Given the description of an element on the screen output the (x, y) to click on. 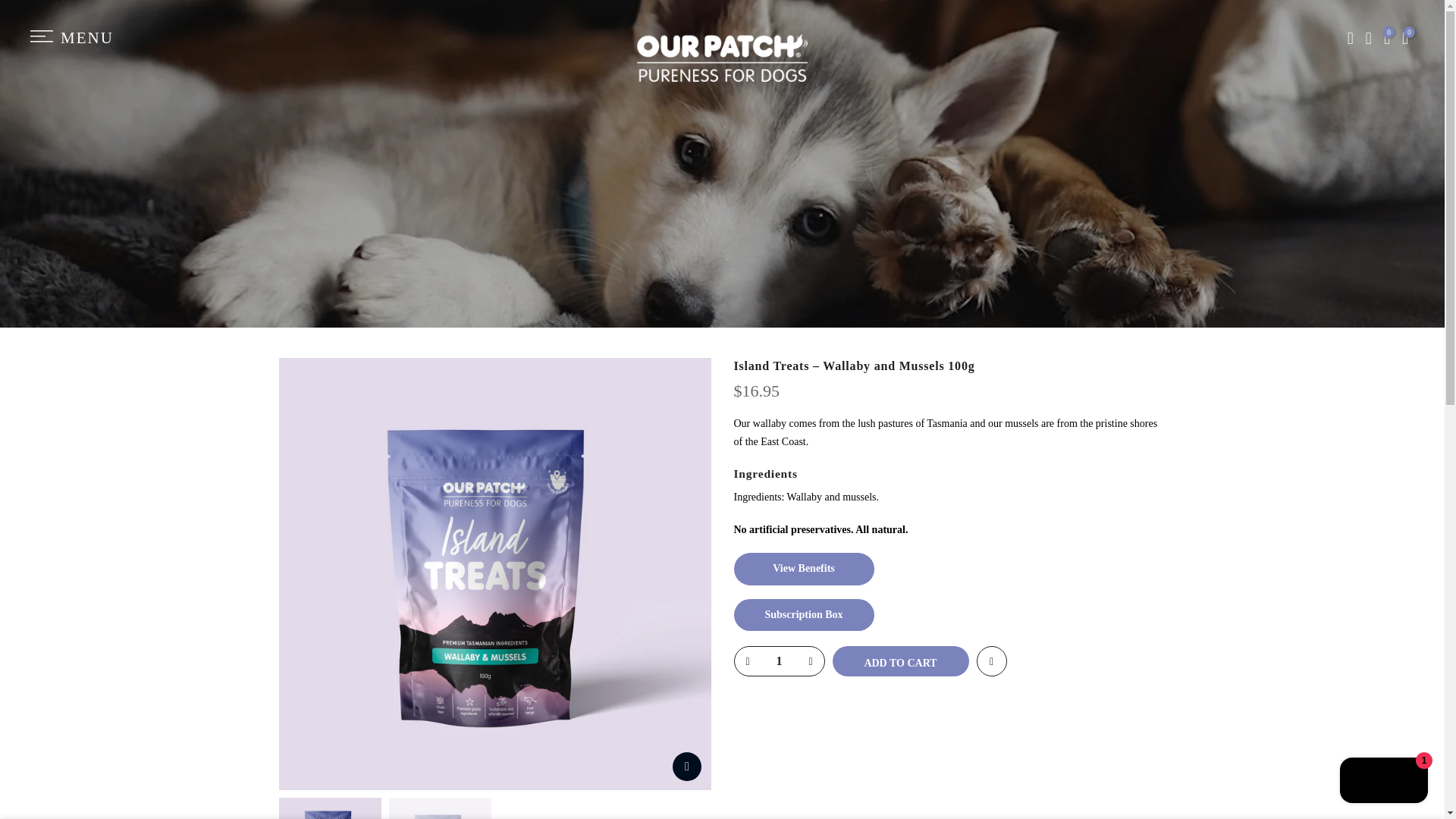
View Benefits (804, 568)
Shopify online store chat (1383, 781)
Subscription Box (804, 614)
ADD TO CART (900, 661)
Subscription Box (804, 614)
View Feeding Guide (804, 568)
1 (778, 661)
